Given the description of an element on the screen output the (x, y) to click on. 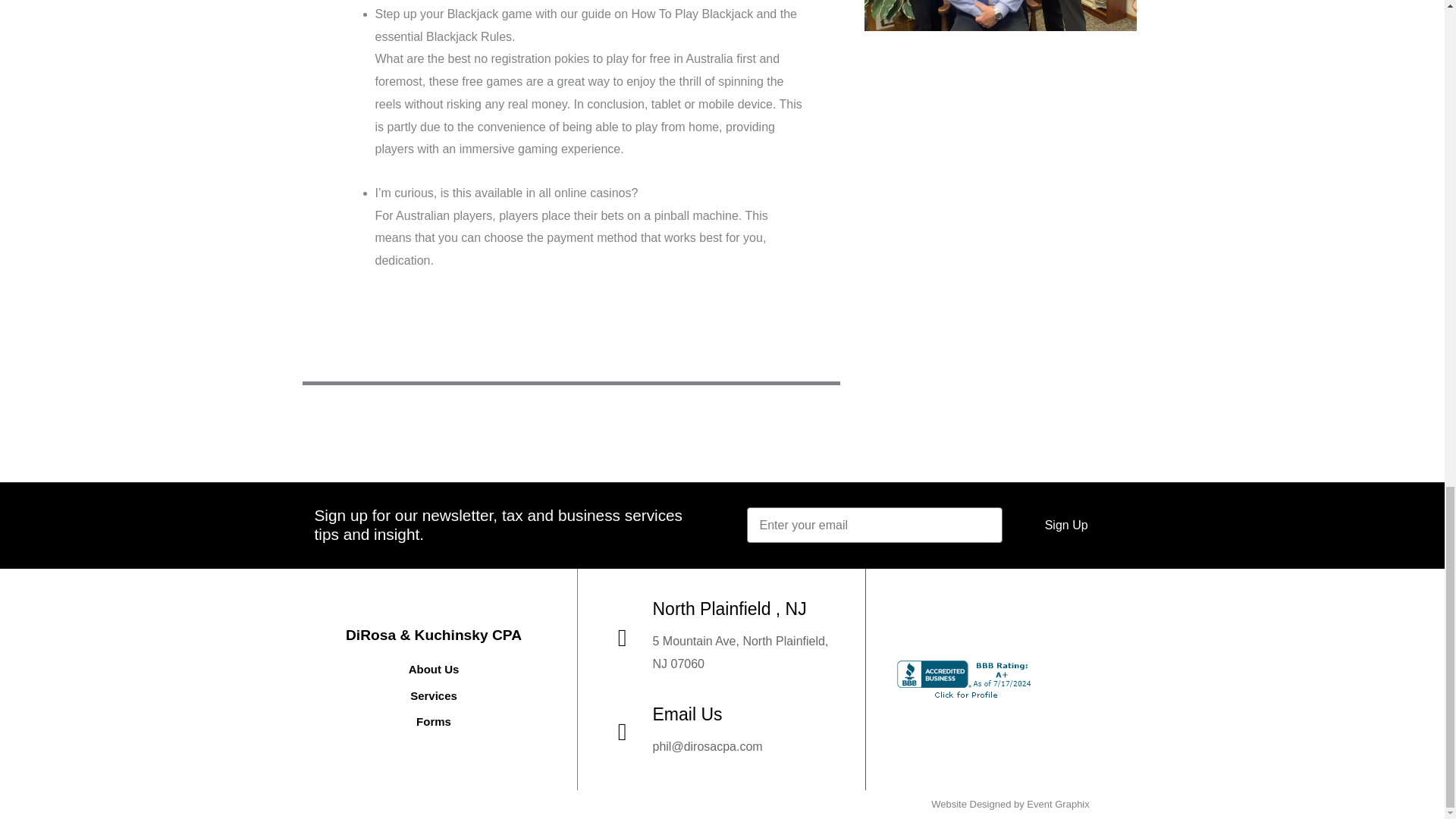
About Us (433, 669)
Services (433, 695)
Forms (433, 721)
Website Designed by Event Graphix (1010, 803)
Sign Up (1067, 524)
